Given the description of an element on the screen output the (x, y) to click on. 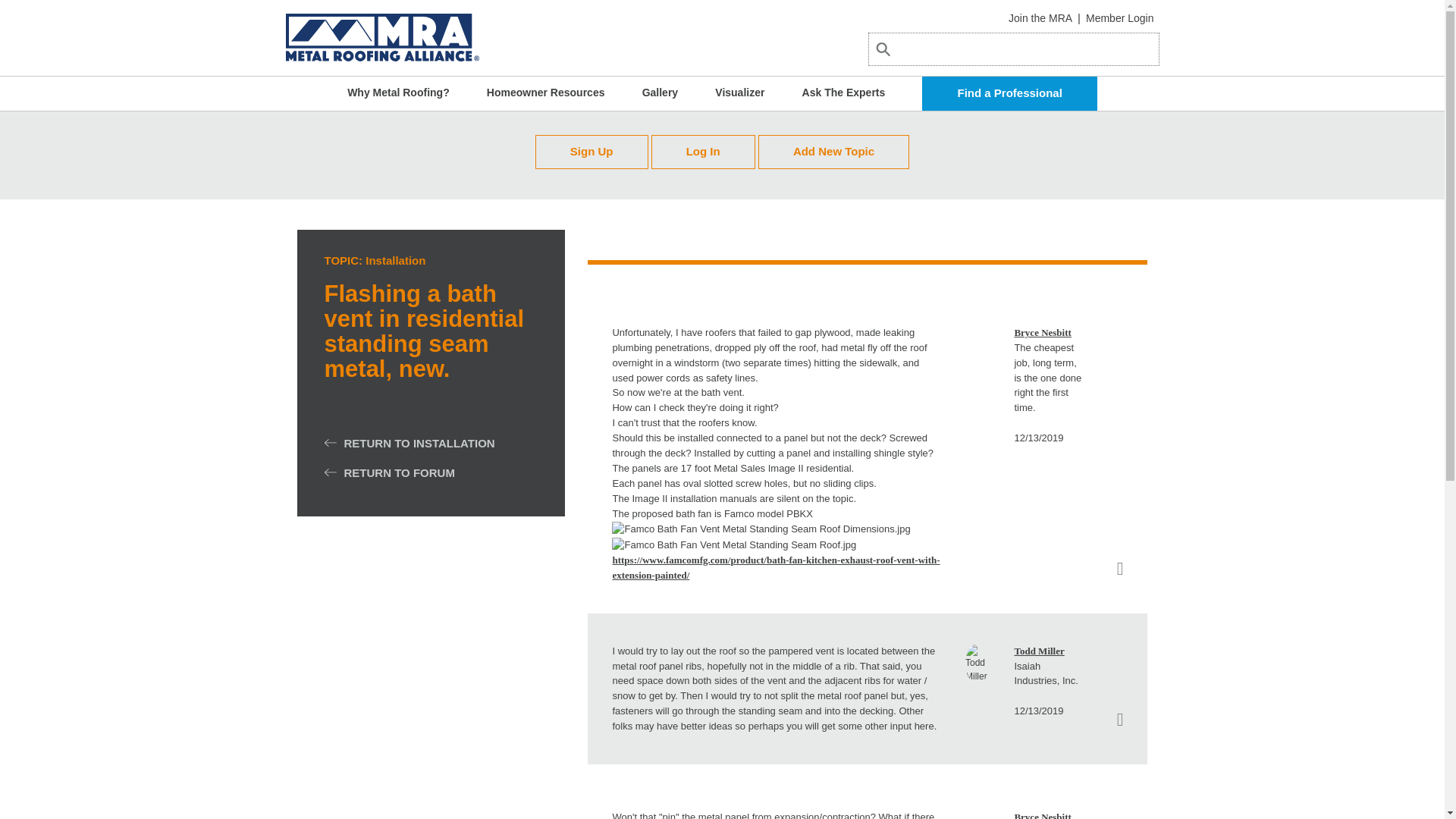
Dec. 13, 2019, 8:09 a.m. (1037, 437)
Join the MRA (1040, 18)
Dec. 13, 2019, 2:15 p.m. (1037, 710)
Why Metal Roofing? (398, 92)
Find a Professional (1008, 93)
Search (904, 67)
Homeowner Resources (545, 92)
Ask The Experts (843, 92)
Gallery (660, 92)
Visualizer (739, 92)
